Given the description of an element on the screen output the (x, y) to click on. 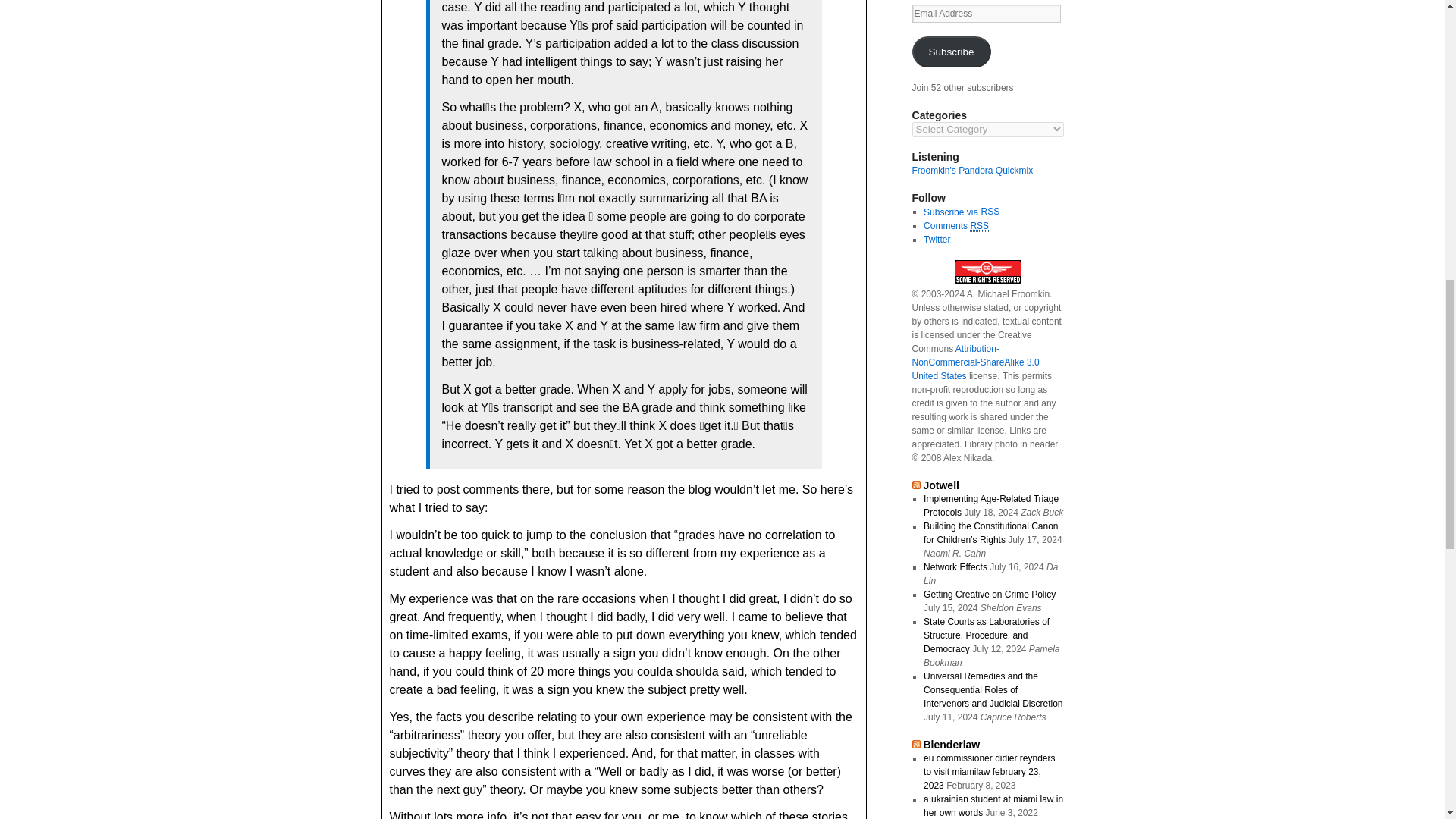
Subscribe via (951, 212)
Froomkin's Pandora Quickmix (971, 170)
Subscribe (950, 51)
RSS (988, 211)
Really Simple Syndication (988, 211)
